Given the description of an element on the screen output the (x, y) to click on. 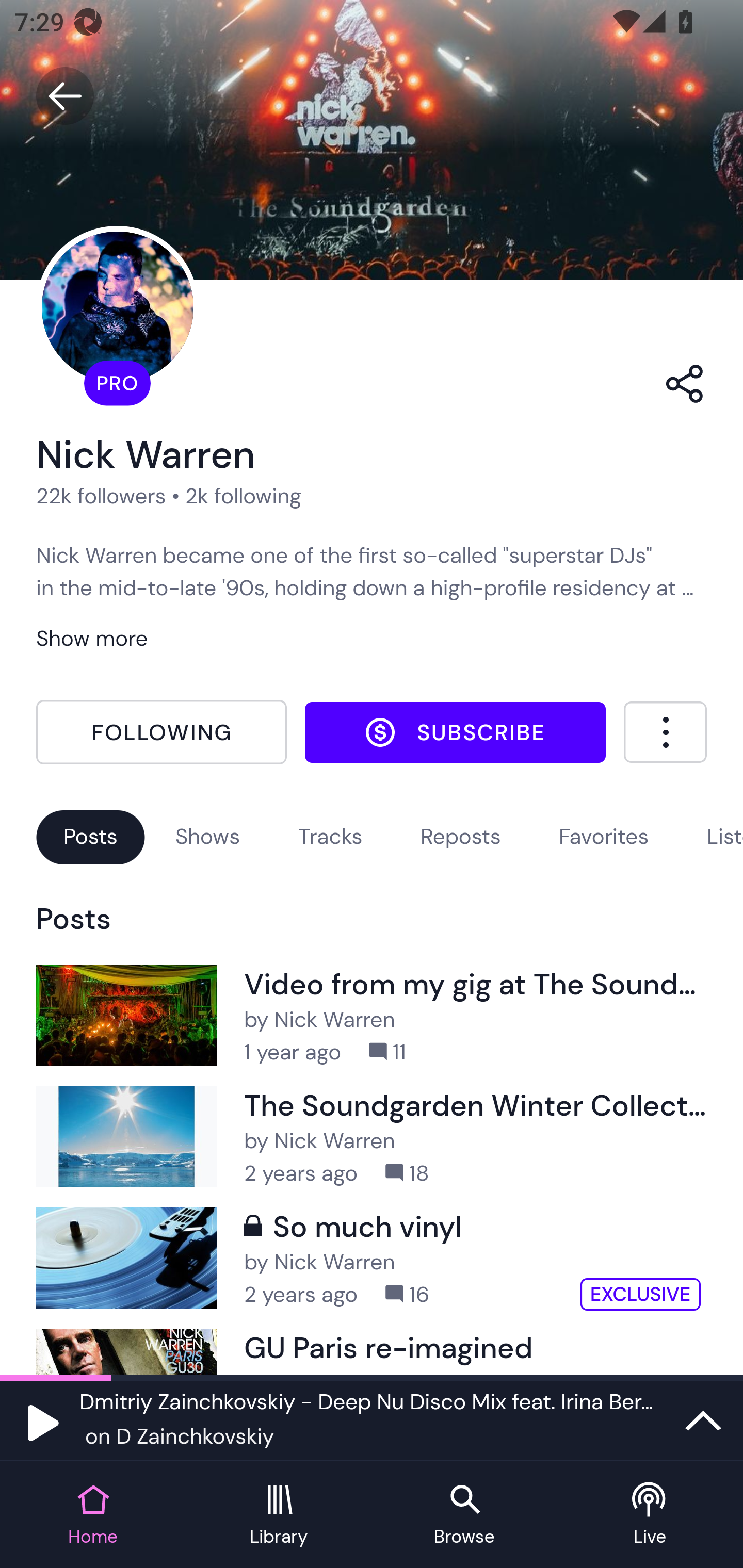
22k followers (101, 495)
2k following (243, 495)
Following FOLLOWING (161, 732)
More Menu (665, 731)
Subscribe SUBSCRIBE (454, 732)
Posts (90, 836)
Shows (207, 836)
Tracks (329, 836)
Reposts (460, 836)
Favorites (603, 836)
Listens (724, 836)
Home tab Home (92, 1515)
Library tab Library (278, 1515)
Browse tab Browse (464, 1515)
Live tab Live (650, 1515)
